Given the description of an element on the screen output the (x, y) to click on. 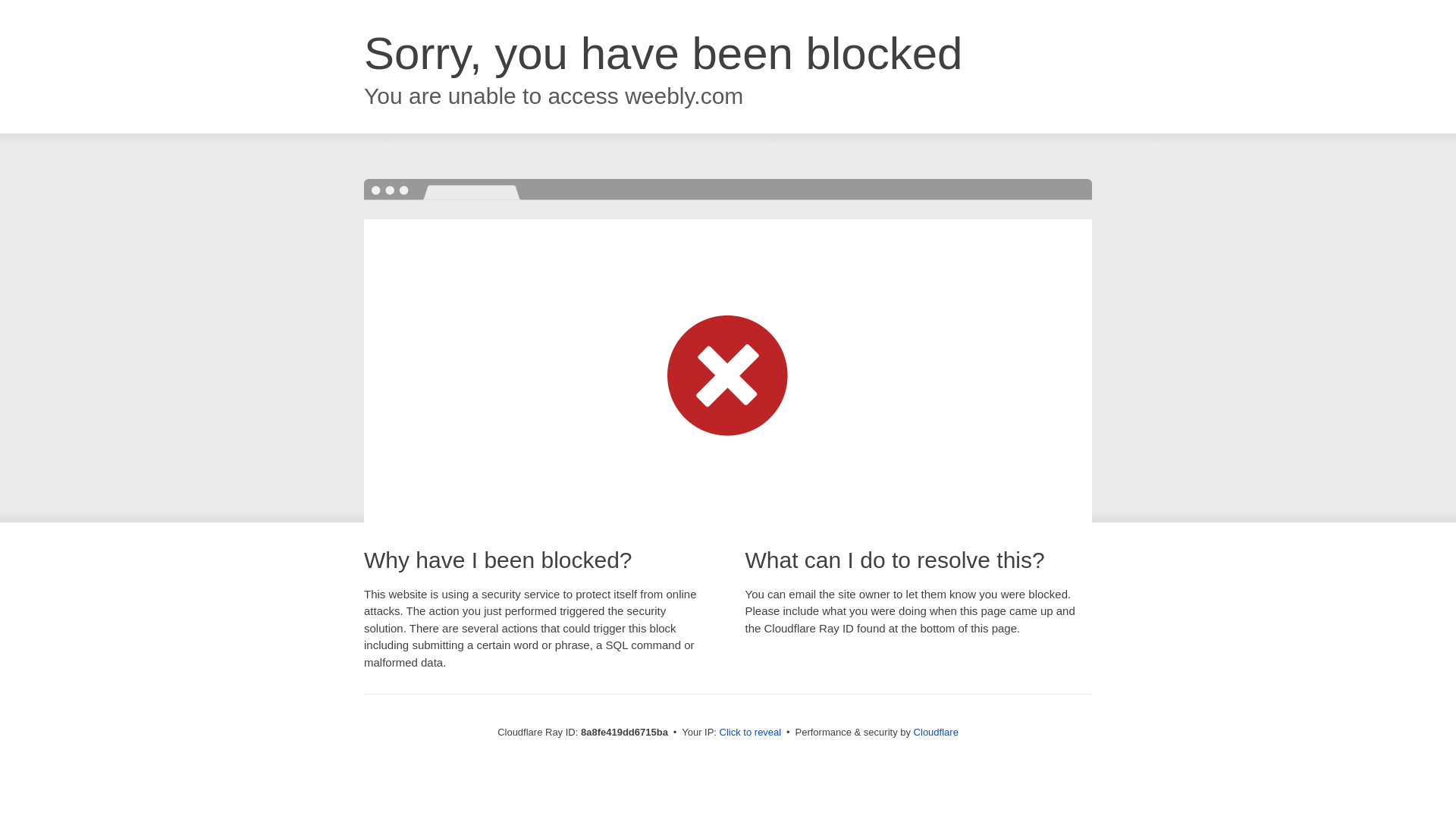
Cloudflare (936, 731)
Click to reveal (750, 732)
